Given the description of an element on the screen output the (x, y) to click on. 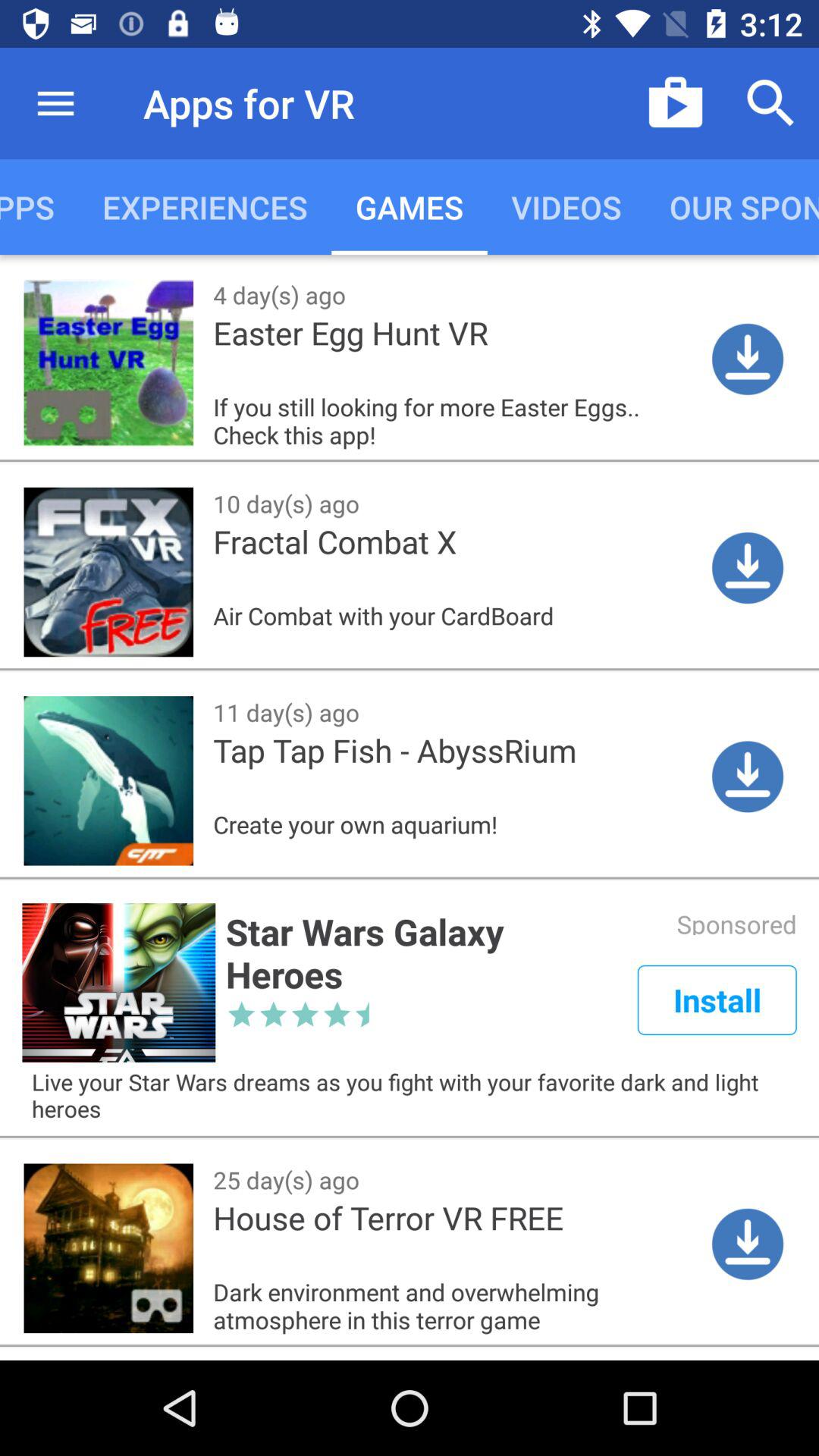
tap icon next to apps for vr icon (675, 103)
